Given the description of an element on the screen output the (x, y) to click on. 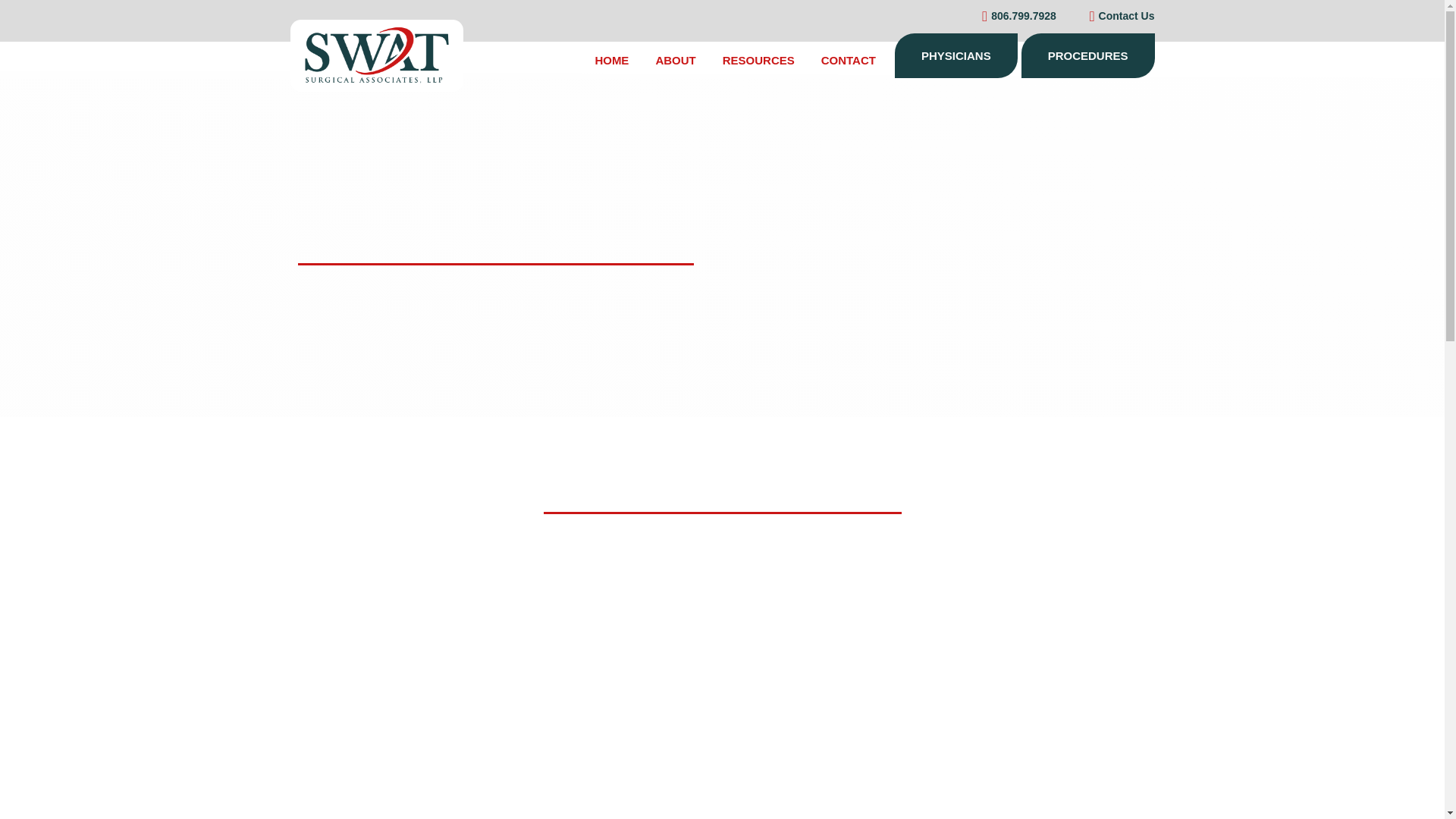
ABOUT (674, 59)
806.799.7928 (1012, 16)
RESOURCES (758, 59)
Contact Us (1115, 16)
PHYSICIANS (956, 55)
PROCEDURES (1088, 55)
HOME (611, 59)
CONTACT (847, 59)
